Given the description of an element on the screen output the (x, y) to click on. 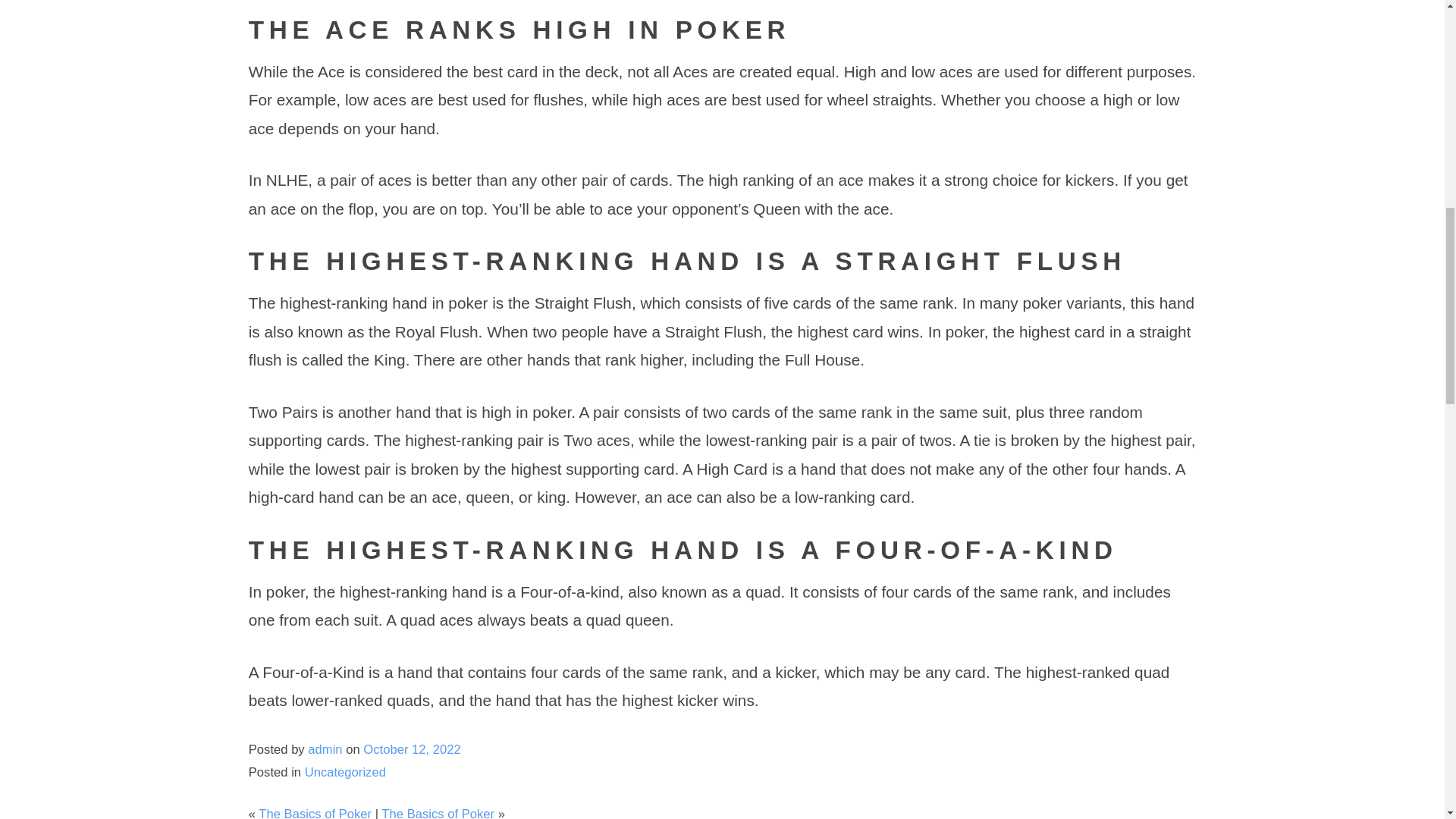
The Basics of Poker (315, 812)
October 12, 2022 (411, 749)
The Basics of Poker (438, 812)
admin (324, 749)
Uncategorized (344, 771)
